Given the description of an element on the screen output the (x, y) to click on. 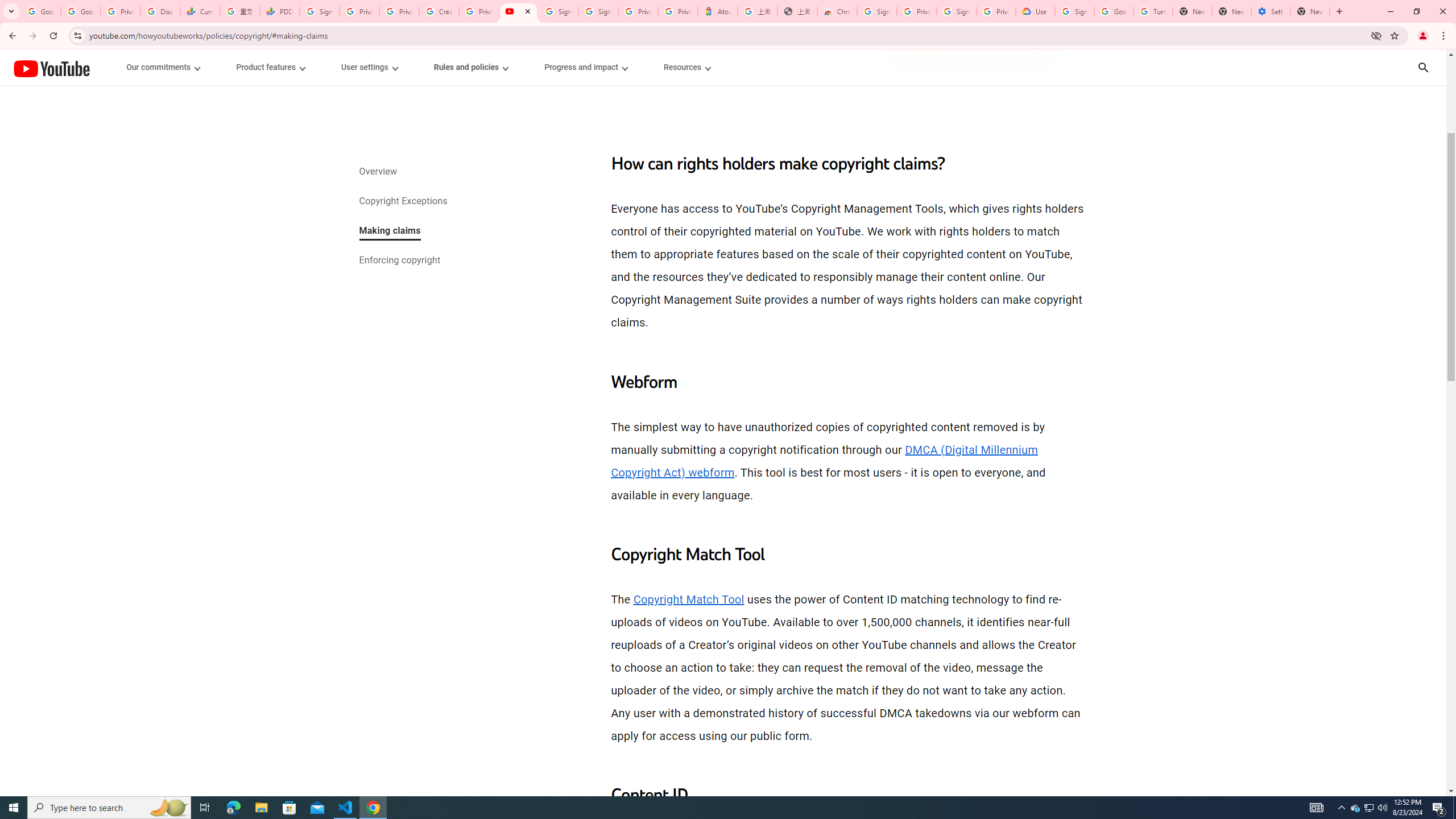
DMCA (Digital Millennium Copyright Act) webform (824, 460)
Our commitments menupopup (163, 67)
Currencies - Google Finance (199, 11)
PDD Holdings Inc - ADR (PDD) Price & News - Google Finance (279, 11)
Play (723, 469)
